Given the description of an element on the screen output the (x, y) to click on. 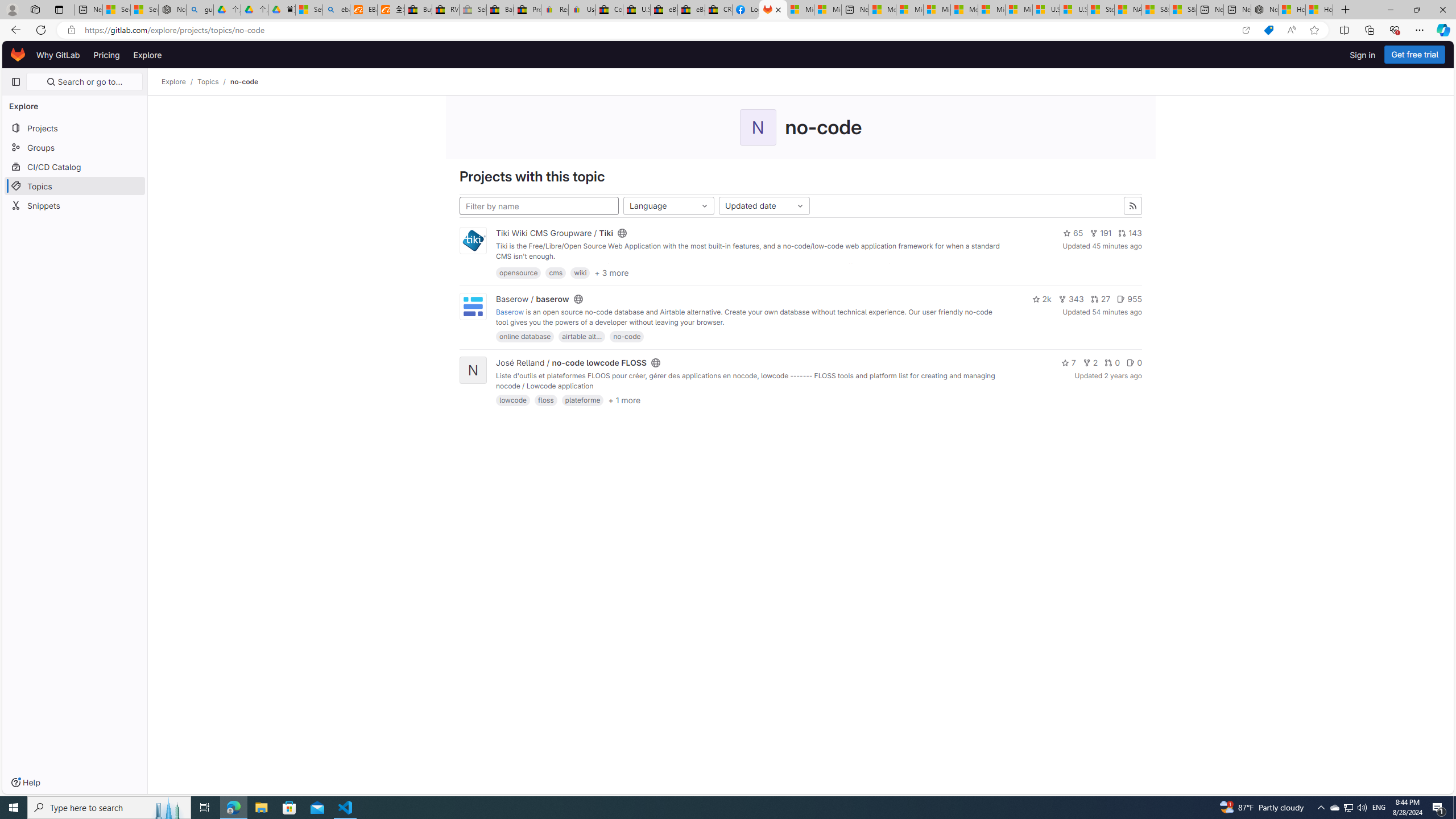
Topics/ (214, 81)
2 (1089, 362)
Register: Create a personal eBay account (554, 9)
27 (1100, 299)
143 (1129, 232)
343 (1071, 299)
Microsoft account | Home (936, 9)
Language (668, 205)
Sign in (1362, 54)
Get free trial (1414, 54)
Class: s16 gl-icon gl-button-icon  (1132, 206)
